Given the description of an element on the screen output the (x, y) to click on. 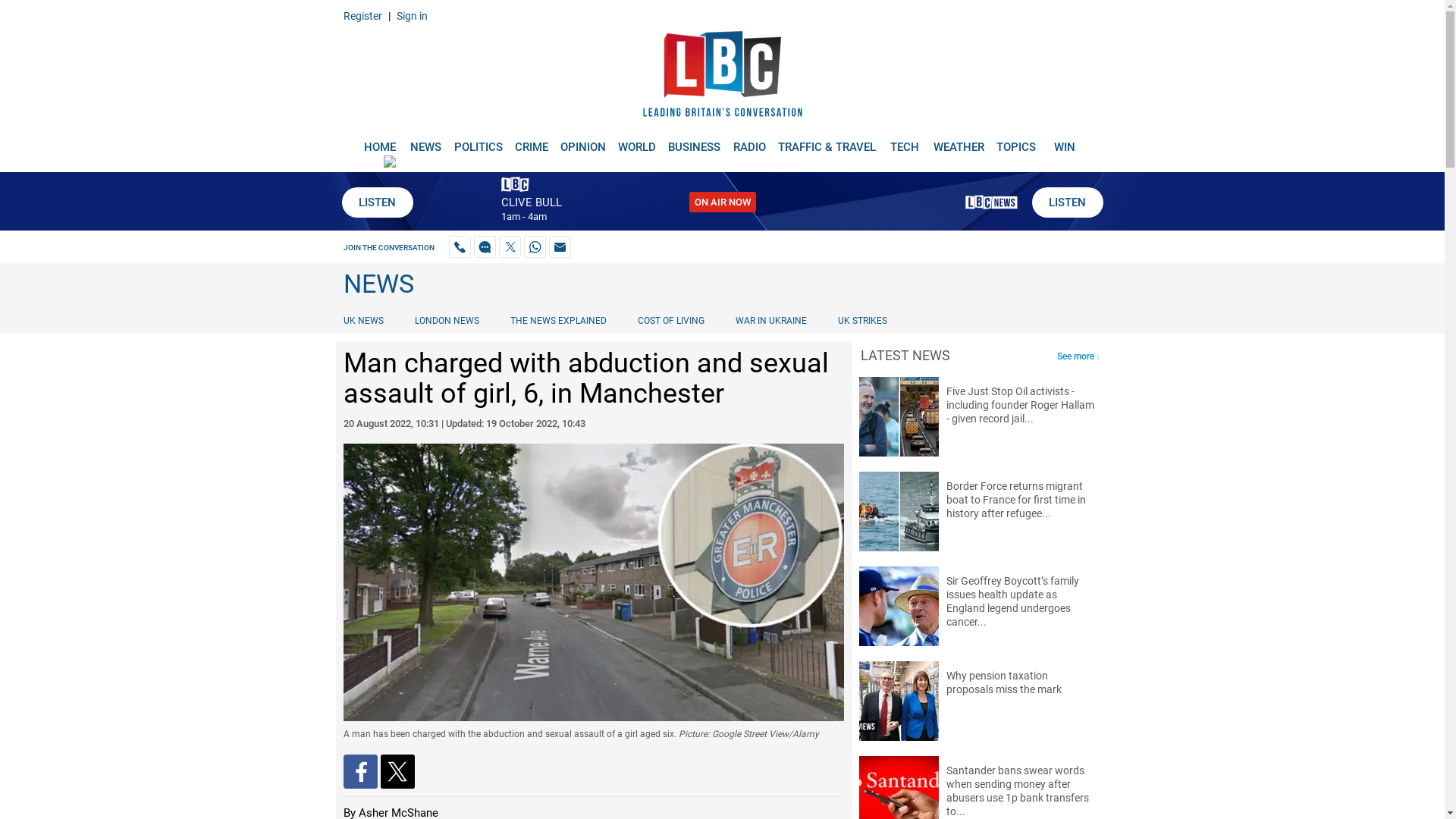
CRIME (531, 140)
WIN (1064, 140)
WAR IN UKRAINE (770, 320)
HOME (379, 140)
RADIO (748, 140)
UK NEWS (365, 320)
BUSINESS (694, 140)
TECH (904, 140)
LBC (722, 77)
POLITICS (478, 140)
WEATHER (958, 140)
Register (361, 15)
Sign in (411, 15)
NEWS (425, 140)
TOPICS (1016, 140)
